Given the description of an element on the screen output the (x, y) to click on. 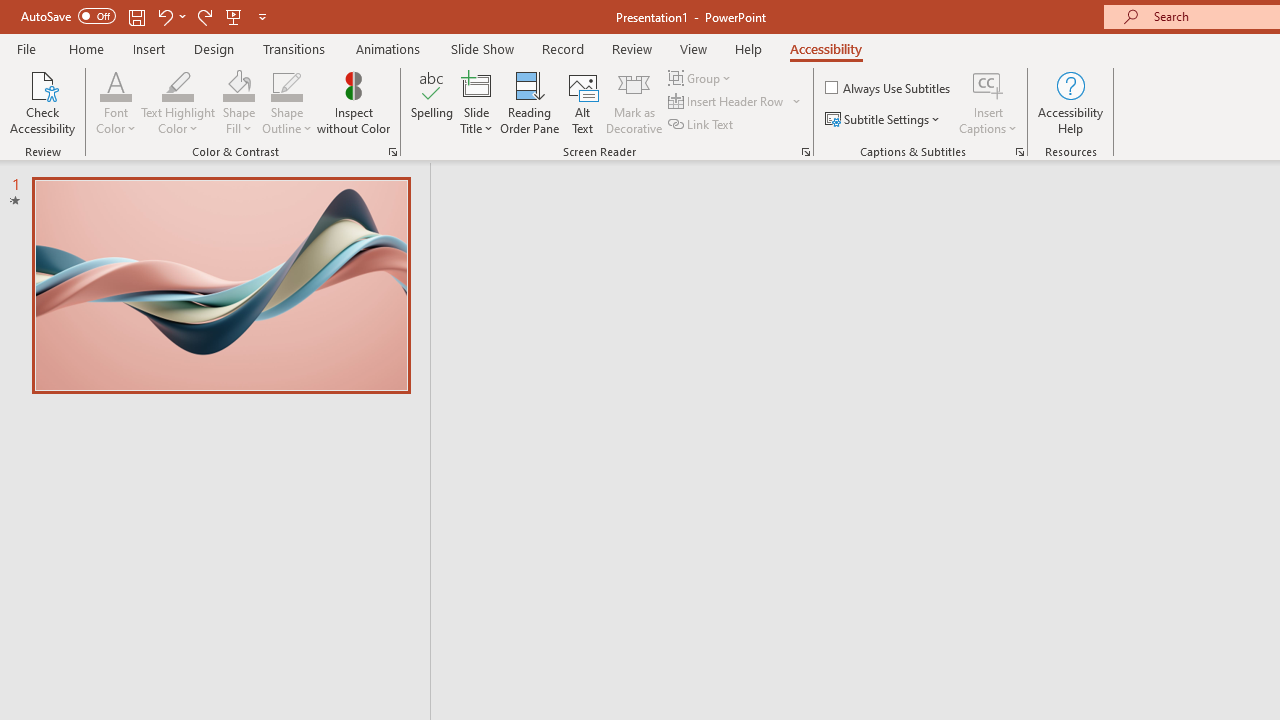
Screen Reader (805, 151)
Reading Order Pane (529, 102)
Accessibility Help (1070, 102)
Mark as Decorative (634, 102)
Insert Captions (988, 84)
Color & Contrast (392, 151)
Always Use Subtitles (889, 87)
Spelling... (432, 102)
